Given the description of an element on the screen output the (x, y) to click on. 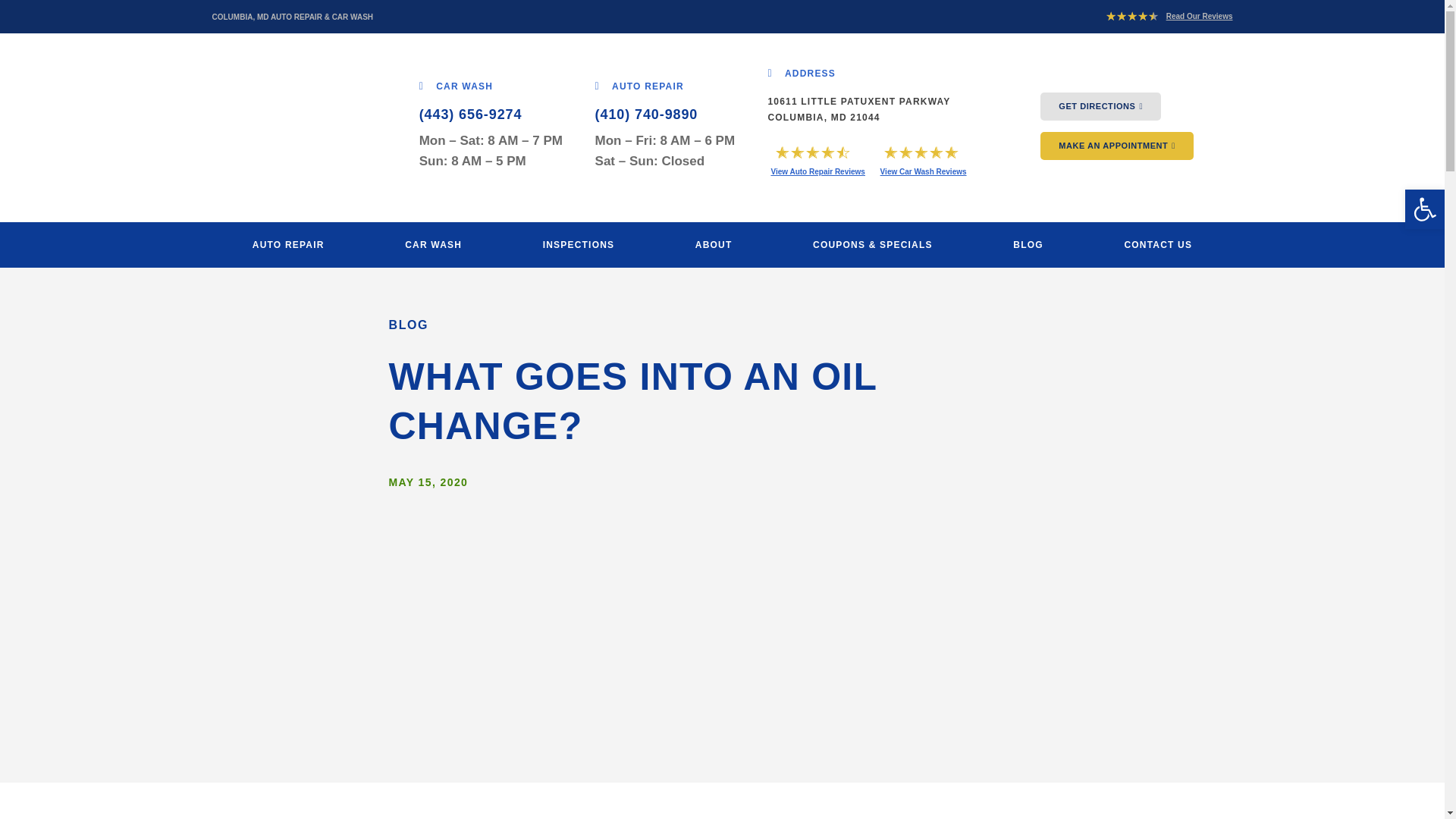
MAKE AN APPOINTMENT (1117, 145)
BLOG (1027, 245)
CONTACT US (1157, 245)
ABOUT (714, 245)
AUTO REPAIR (639, 85)
CAR WASH (433, 245)
Accessibility Tools (1424, 209)
View Auto Repair Reviews (817, 171)
ADDRESS (801, 72)
View Car Wash Reviews (923, 171)
